Given the description of an element on the screen output the (x, y) to click on. 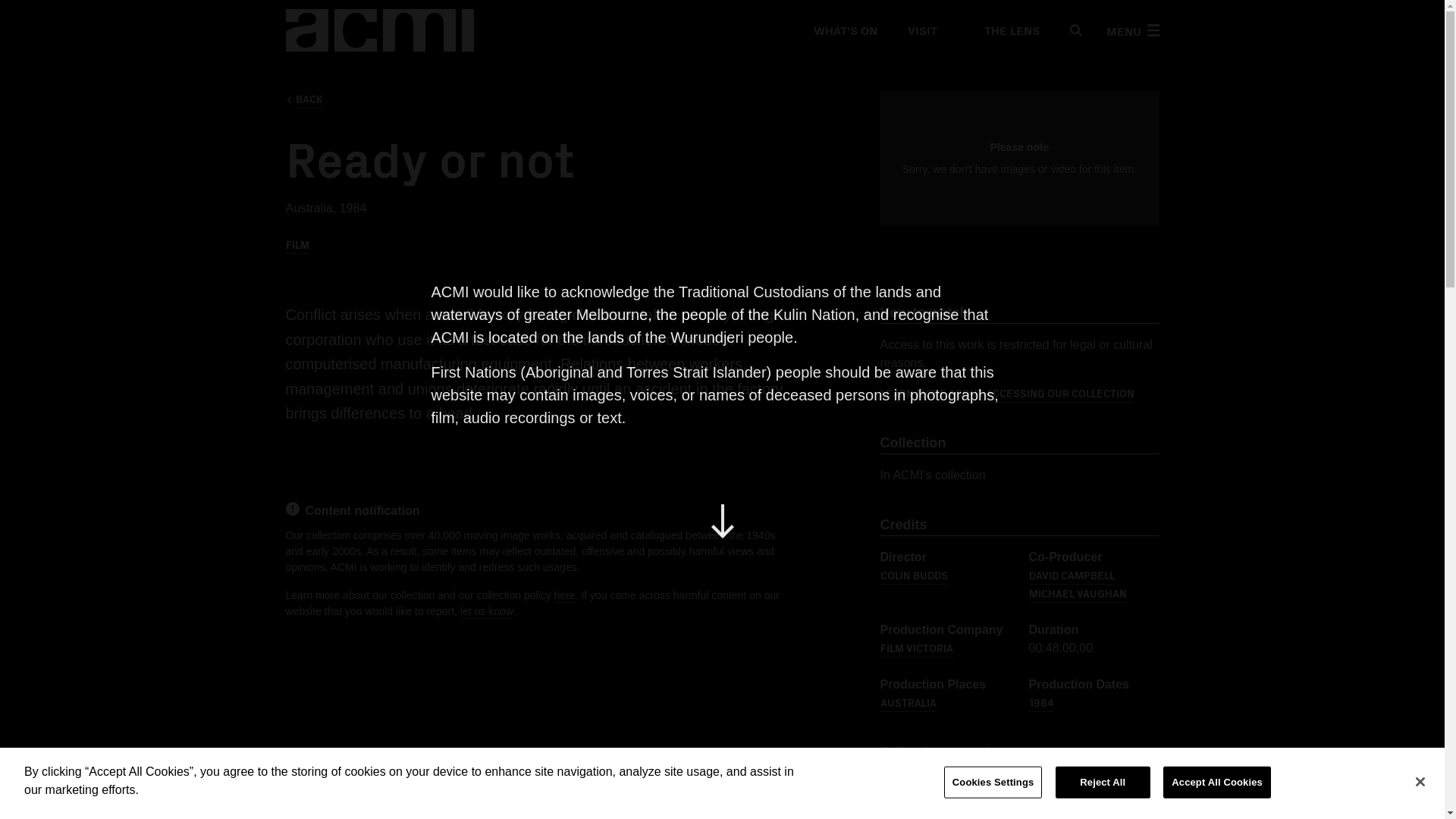
VISIT (921, 30)
MENU (1131, 29)
WHAT'S ON (844, 30)
THE LENS (1003, 30)
